Given the description of an element on the screen output the (x, y) to click on. 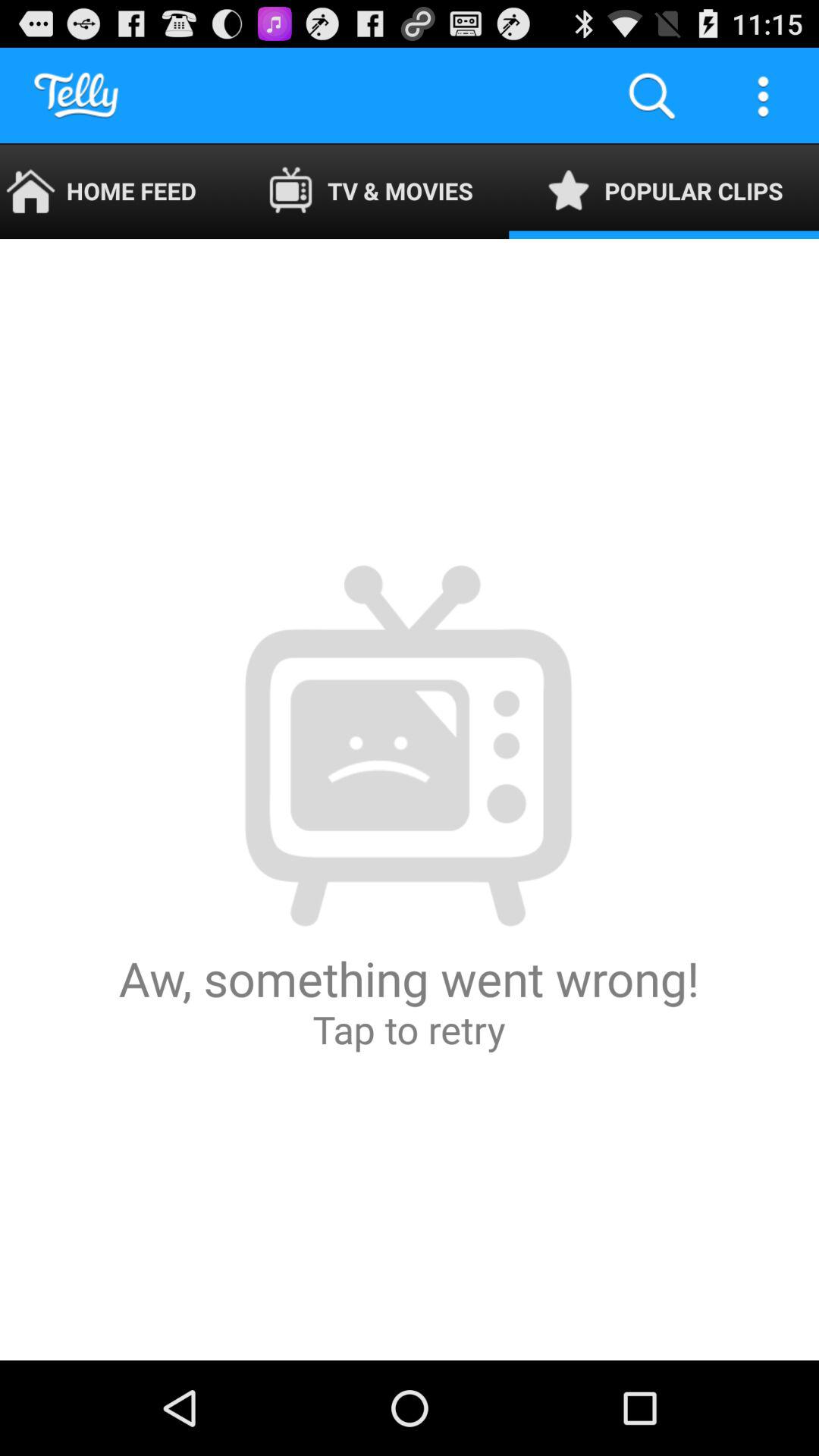
scroll to home feed app (116, 190)
